Given the description of an element on the screen output the (x, y) to click on. 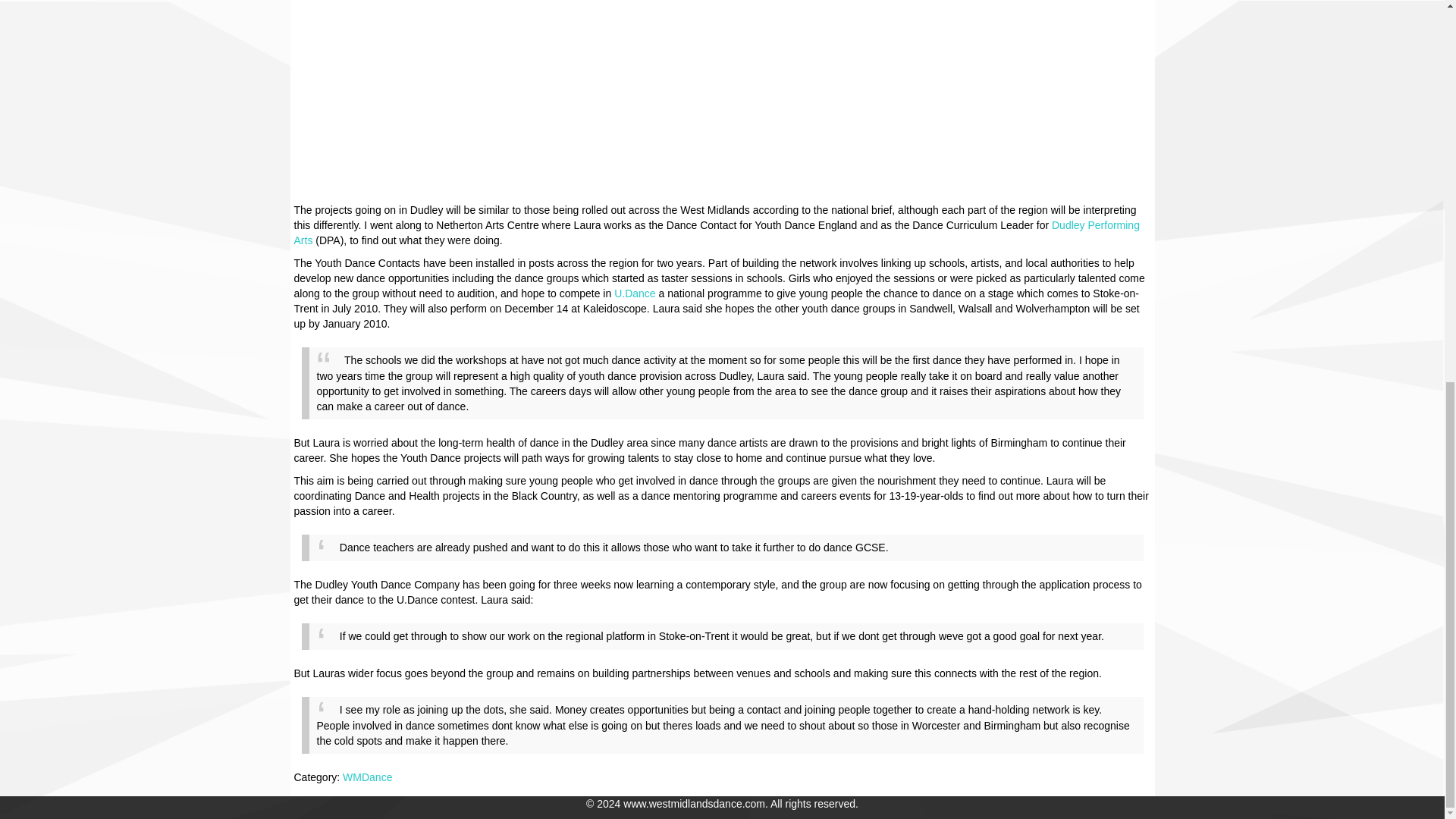
WMDance (366, 776)
U.Dance (634, 293)
Dudley Performing Arts (717, 232)
